Given the description of an element on the screen output the (x, y) to click on. 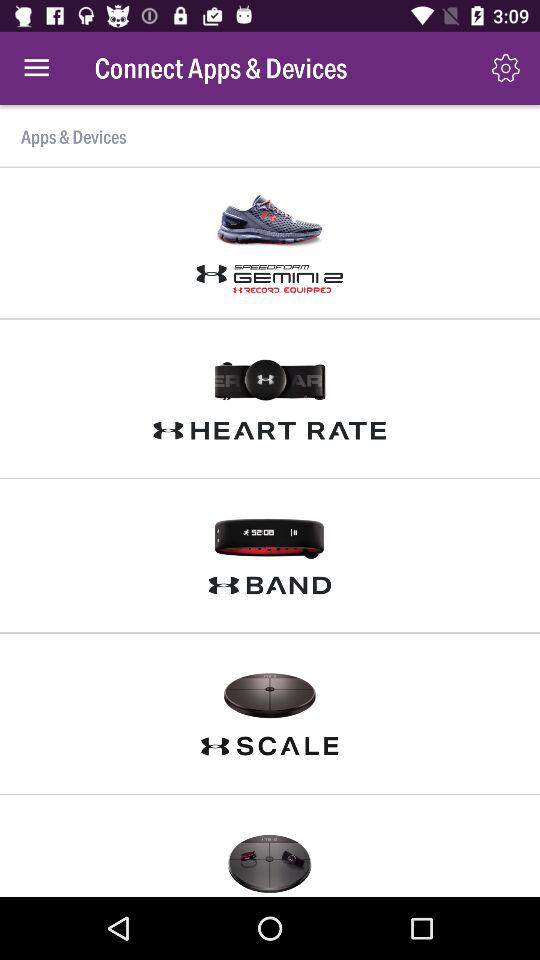
turn off the item at the top left corner (36, 68)
